Given the description of an element on the screen output the (x, y) to click on. 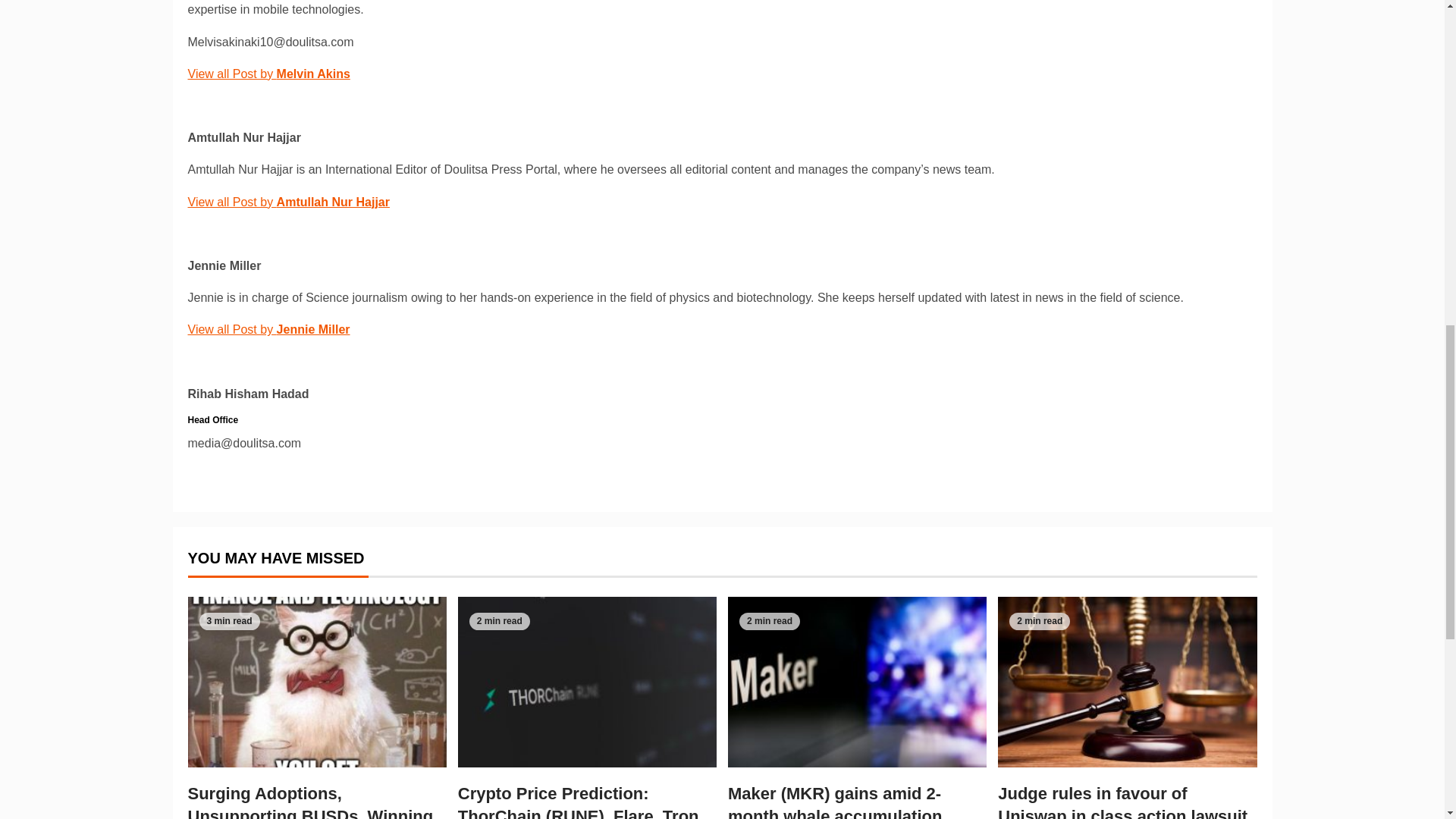
View all Post by Melvin Akins (268, 73)
View all Post by Jennie Miller (268, 328)
View all Post by Amtullah Nur Hajjar (288, 201)
